Given the description of an element on the screen output the (x, y) to click on. 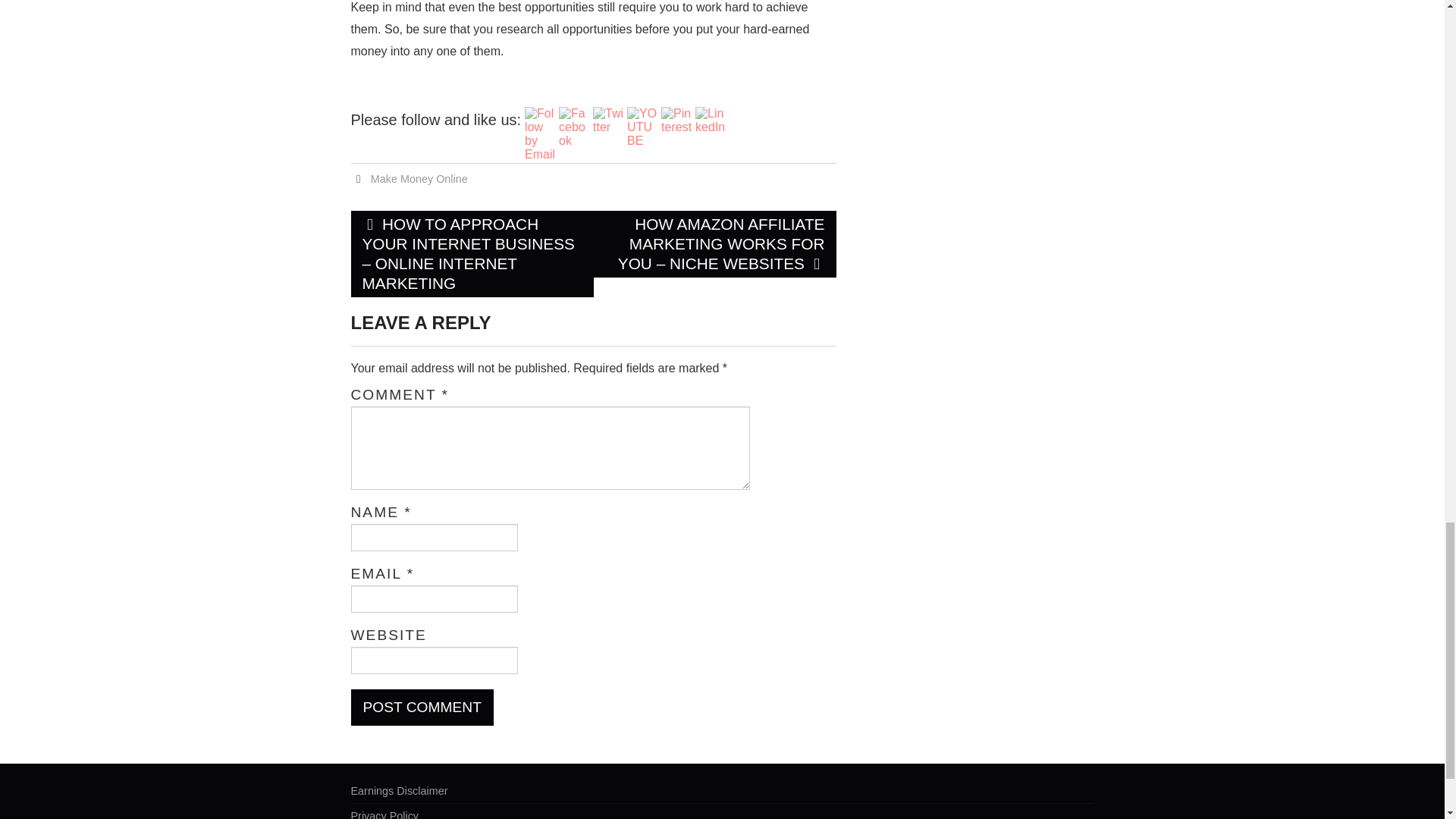
Make Money Online (419, 178)
Post Comment (421, 707)
Post Comment (421, 707)
Twitter (607, 120)
Pinterest (676, 120)
